Given the description of an element on the screen output the (x, y) to click on. 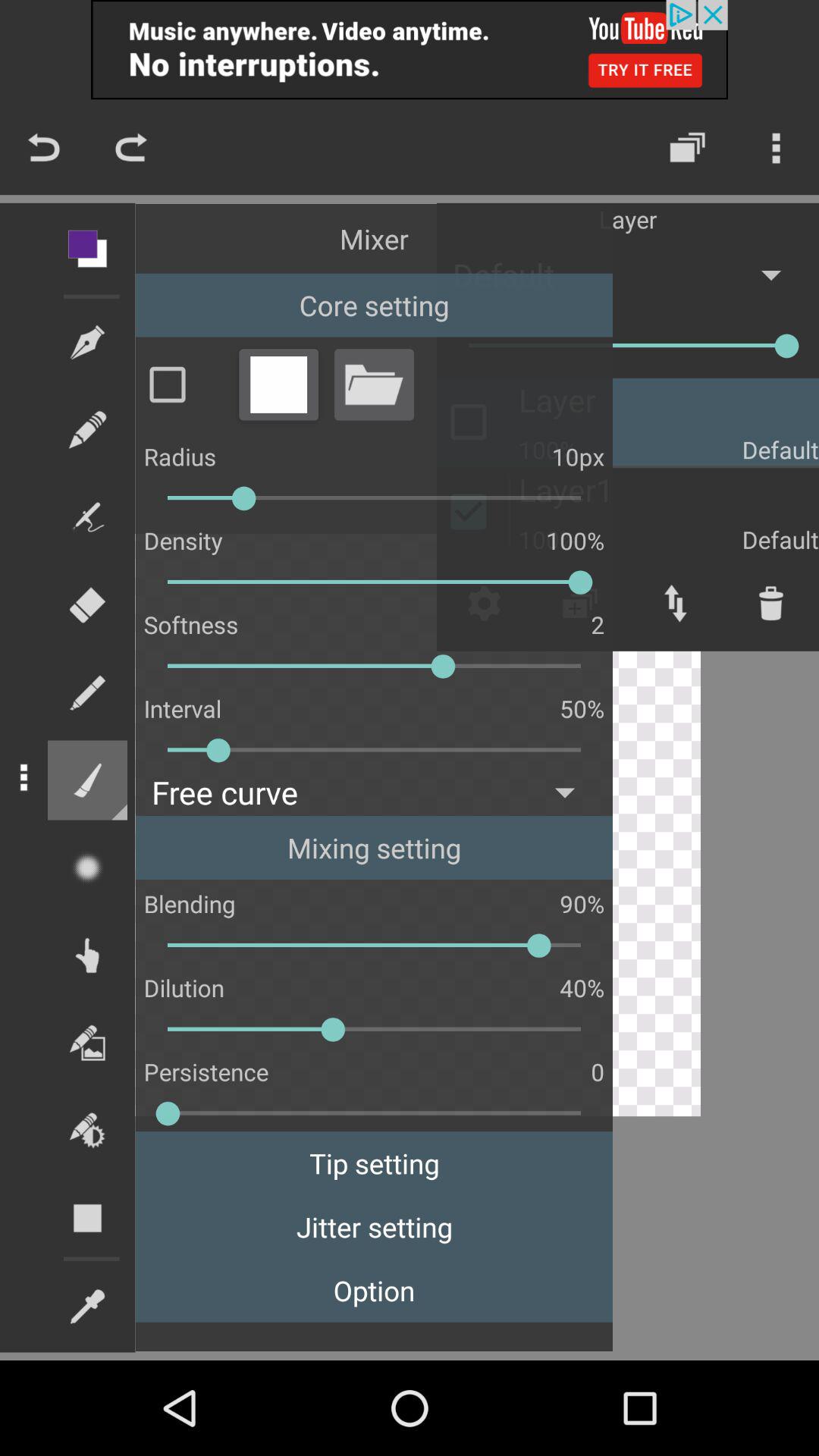
exit core setting (278, 383)
